Given the description of an element on the screen output the (x, y) to click on. 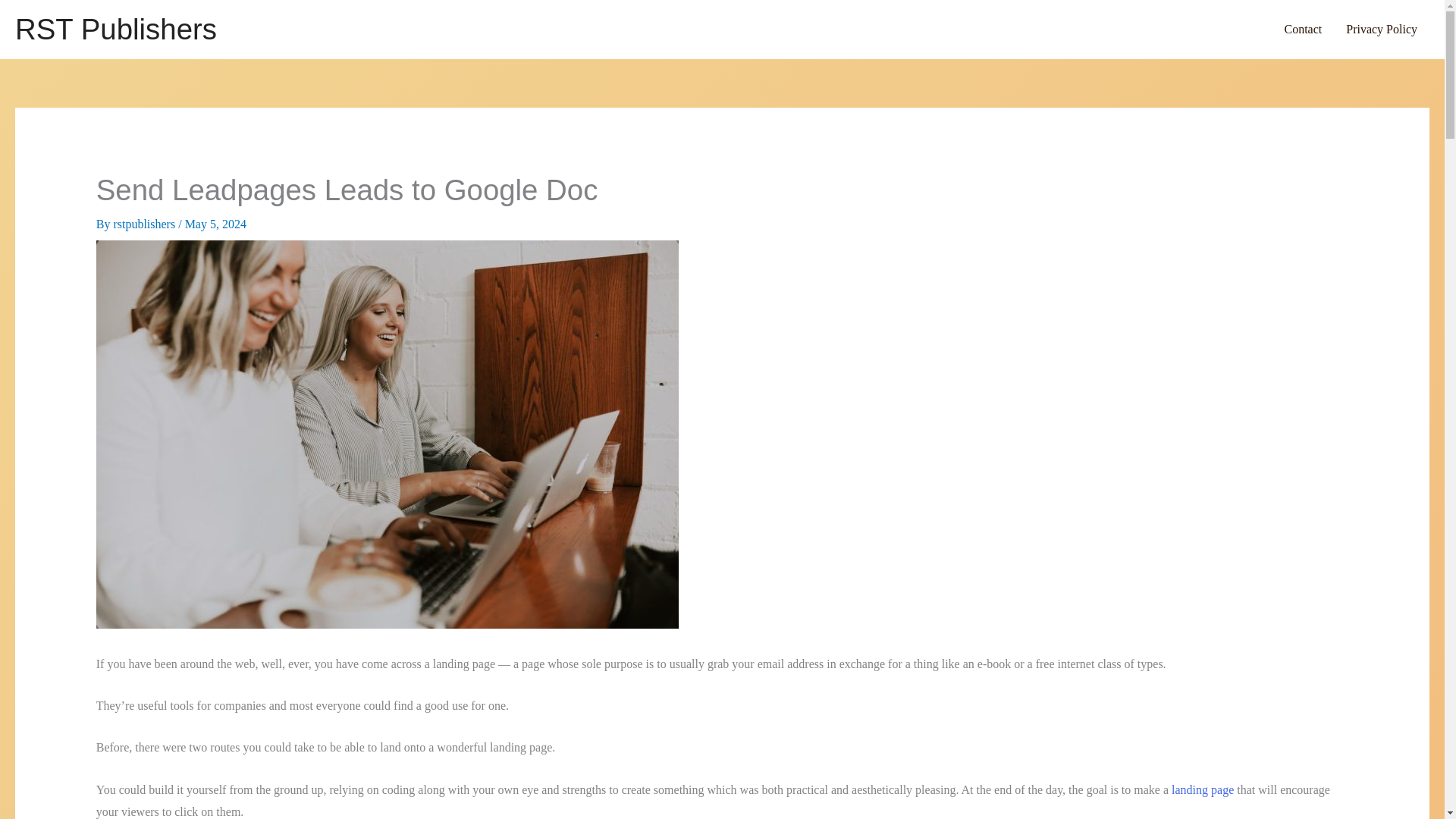
landing page (1202, 789)
Contact (1302, 29)
rstpublishers (145, 223)
View all posts by rstpublishers (145, 223)
RST Publishers (115, 29)
Privacy Policy (1381, 29)
